Given the description of an element on the screen output the (x, y) to click on. 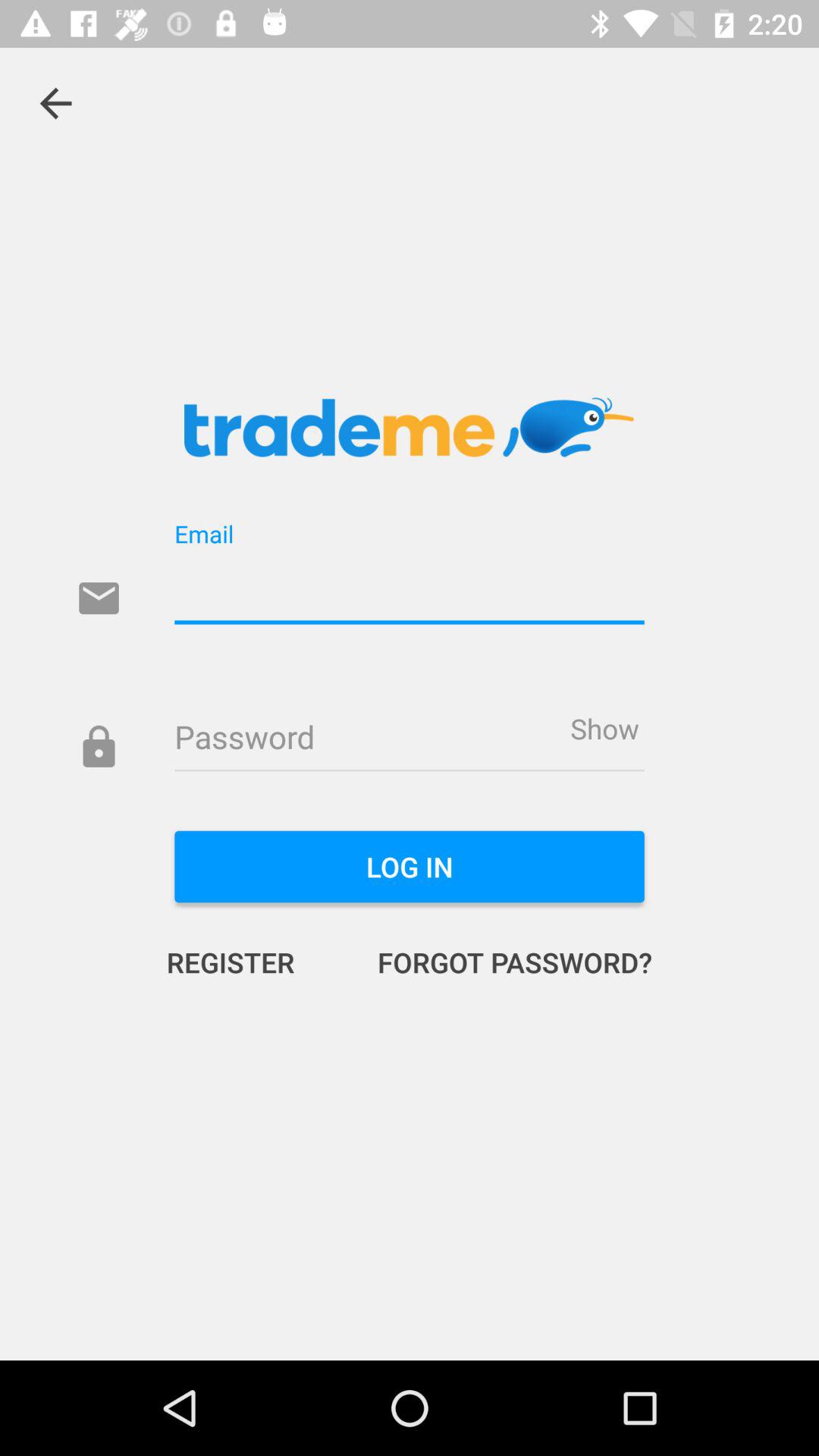
jump to register item (246, 962)
